Given the description of an element on the screen output the (x, y) to click on. 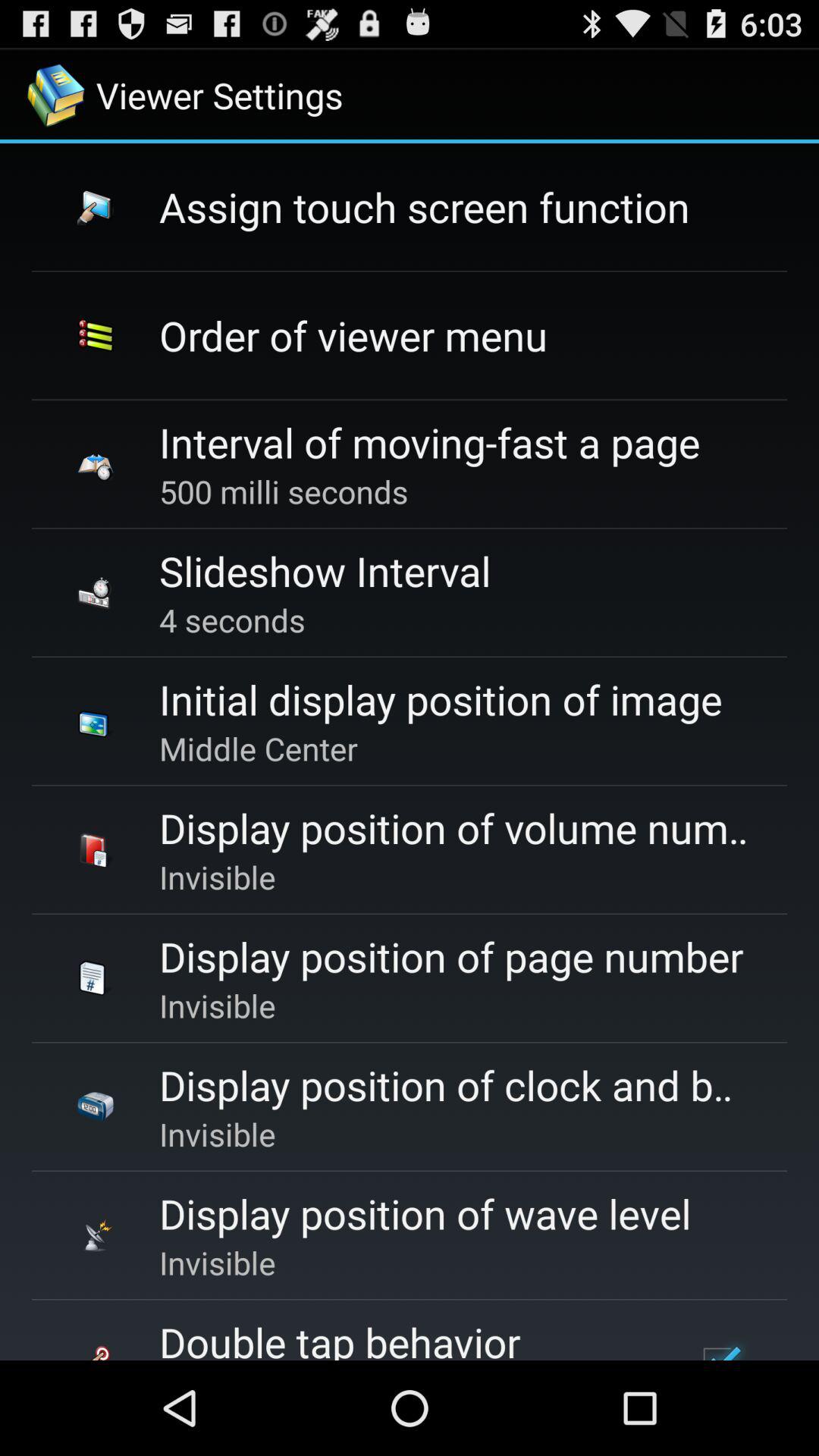
click the icon above slideshow interval (283, 491)
